Given the description of an element on the screen output the (x, y) to click on. 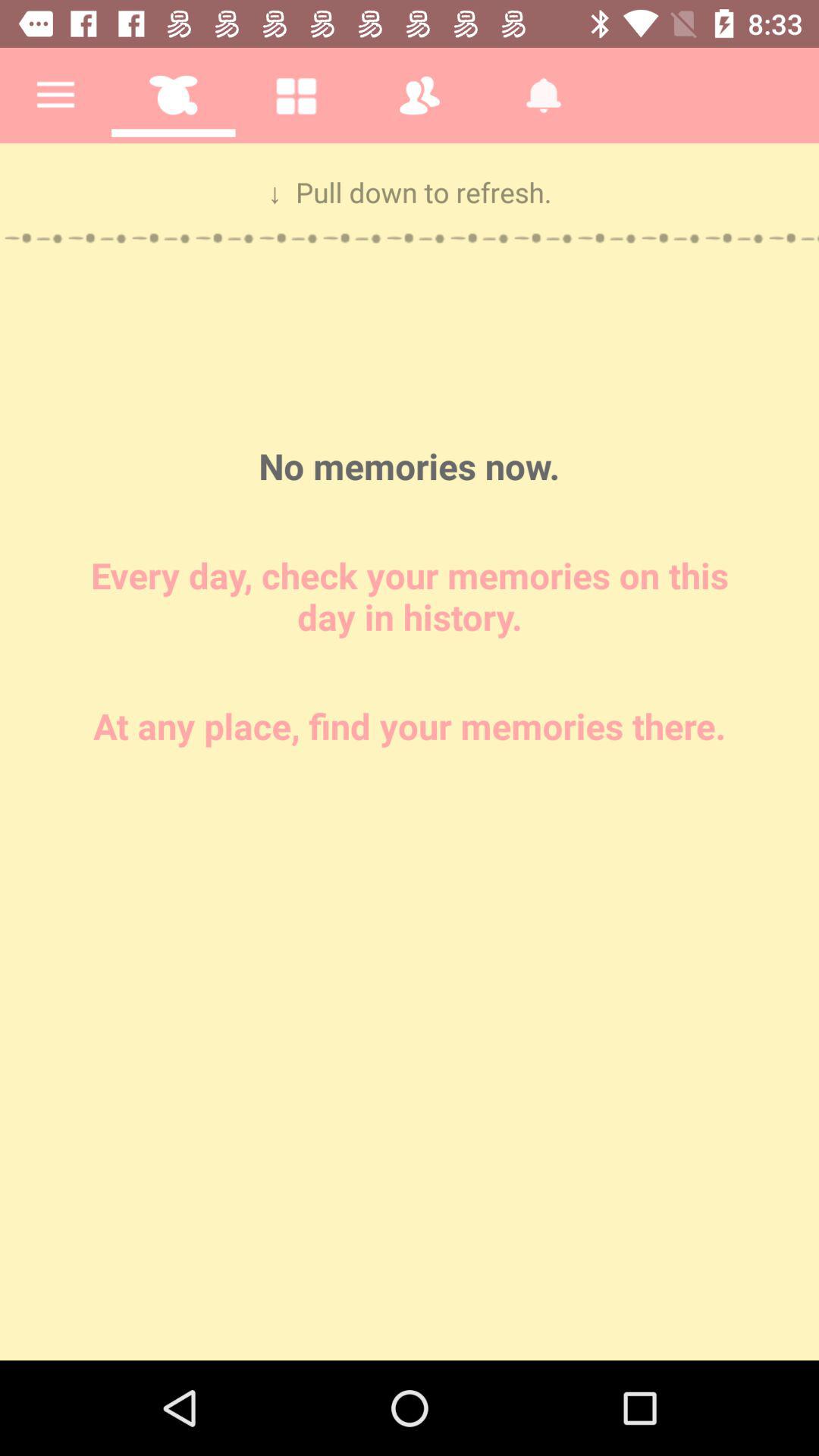
check the memories (409, 751)
